Given the description of an element on the screen output the (x, y) to click on. 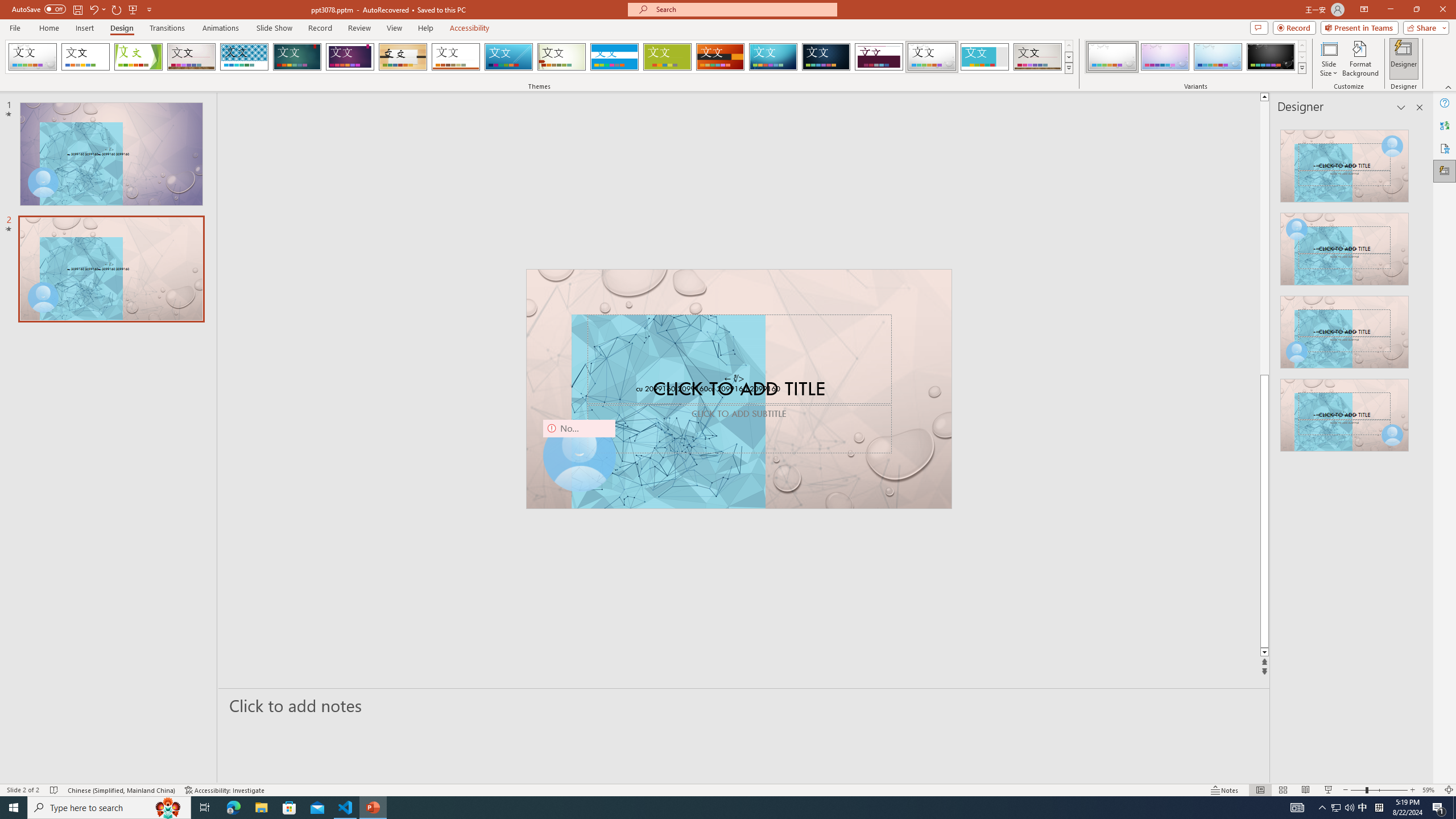
TextBox 61 (737, 389)
Zoom 59% (1430, 790)
Basis (667, 56)
Droplet Variant 2 (1164, 56)
